Given the description of an element on the screen output the (x, y) to click on. 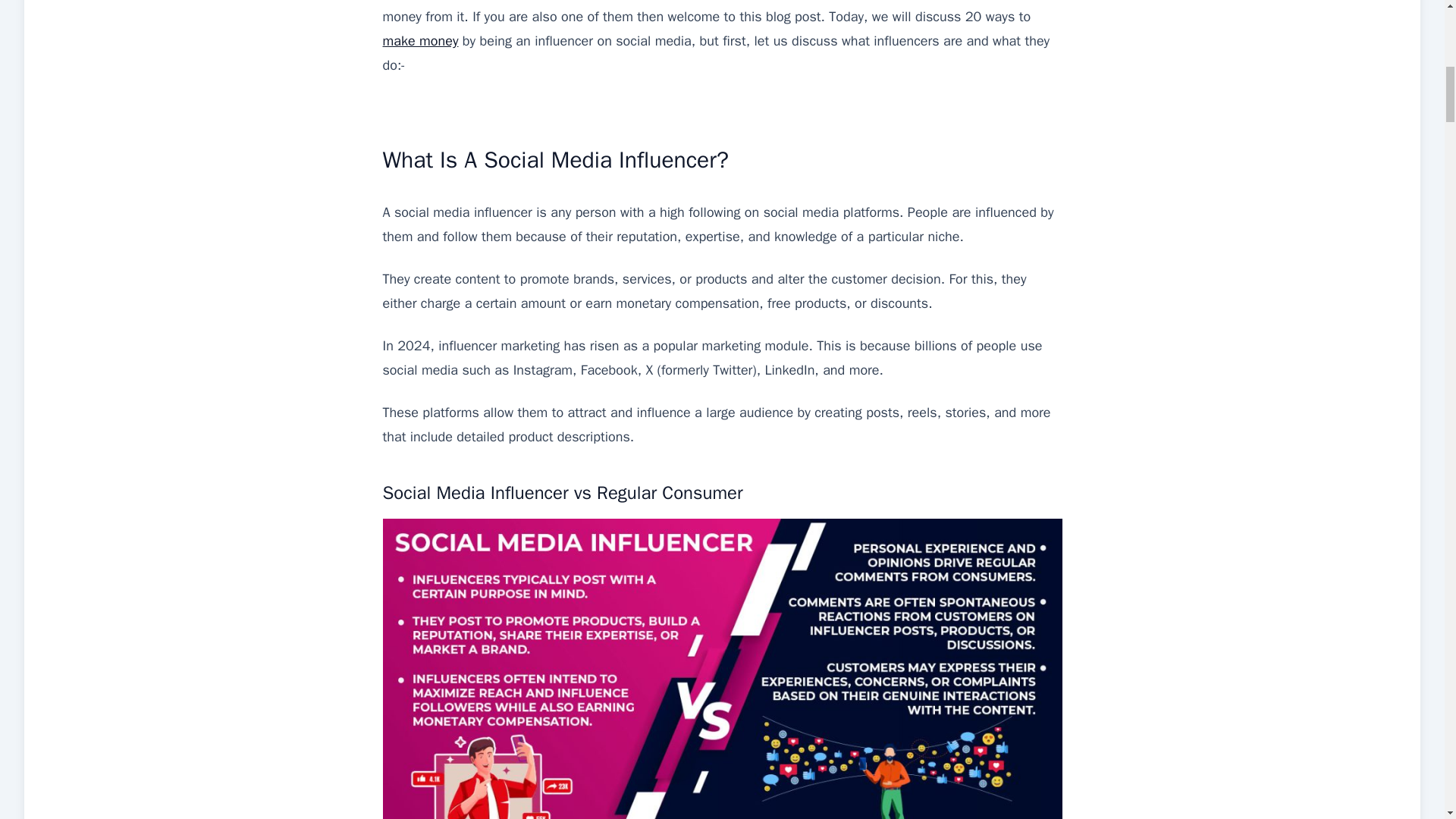
make money (419, 40)
